Given the description of an element on the screen output the (x, y) to click on. 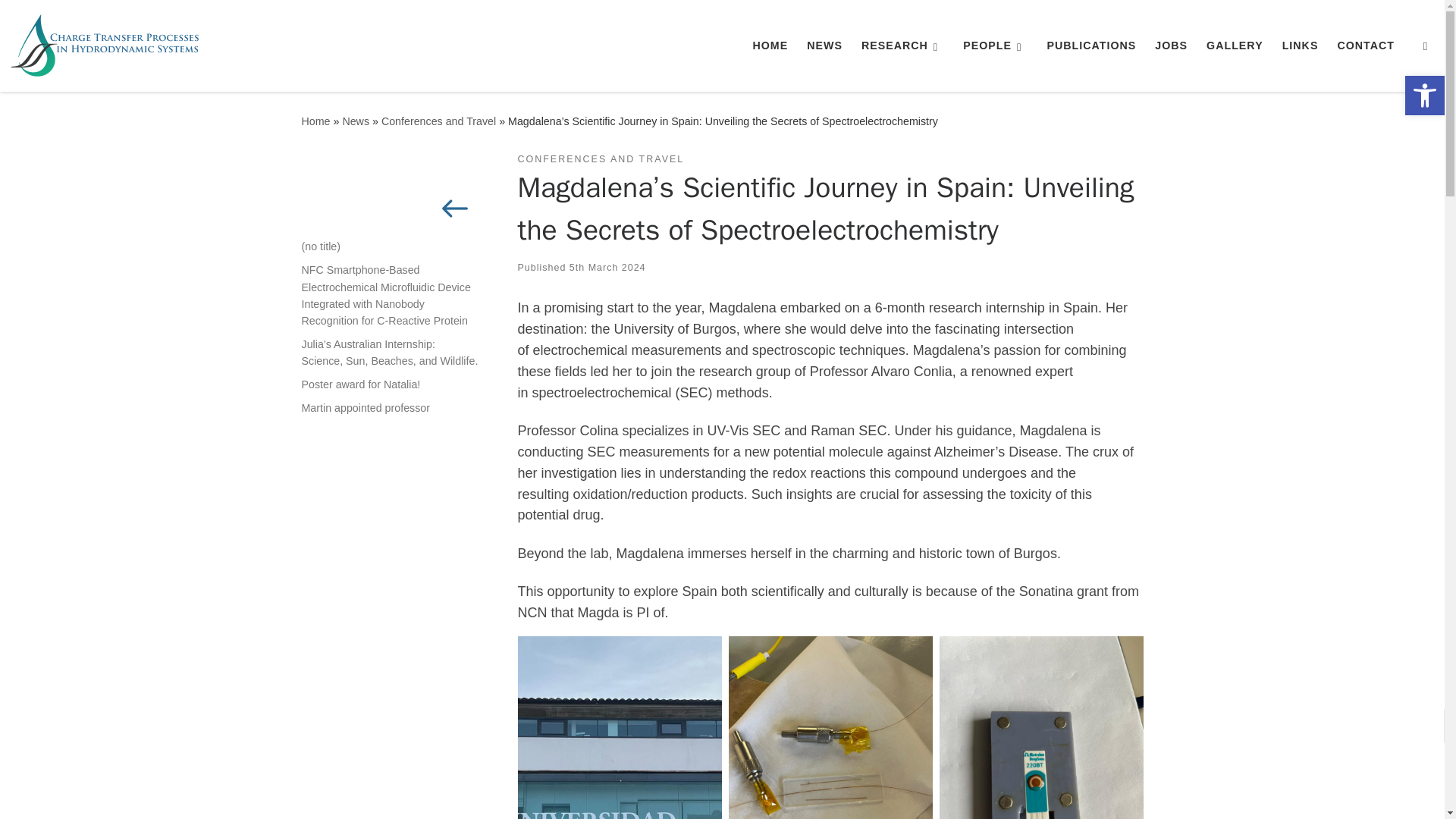
RESEARCH (903, 45)
PEOPLE (995, 45)
HOME (770, 45)
PUBLICATIONS (1091, 45)
NEWS (824, 45)
Skip to content (60, 20)
LINKS (1299, 45)
CONTACT (1365, 45)
Conferences and Travel (438, 121)
18:14 (607, 267)
